Given the description of an element on the screen output the (x, y) to click on. 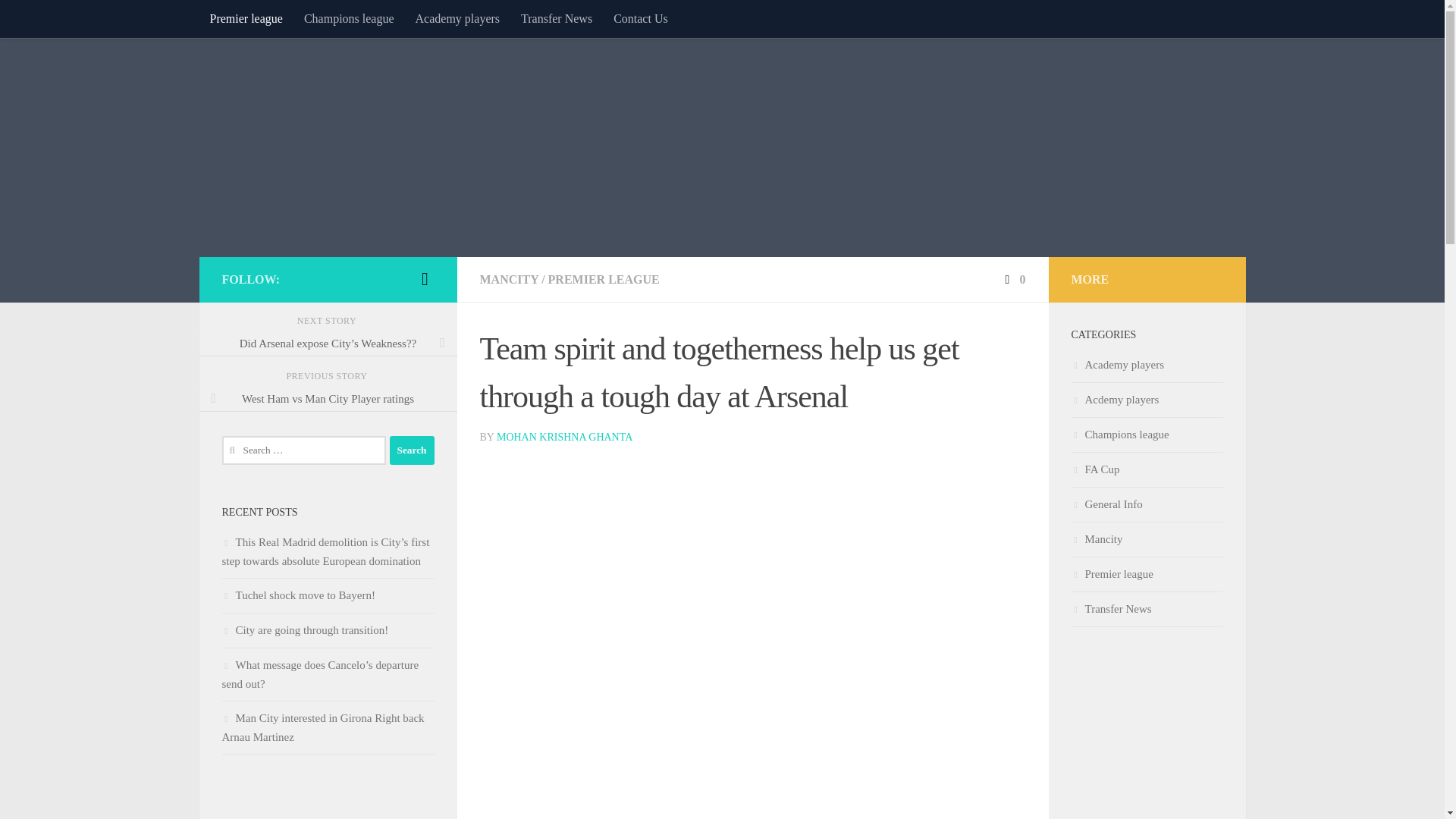
West Ham vs Man City Player ratings (327, 398)
Academy players (457, 18)
Skip to content (59, 20)
Follow us on Twitter (423, 279)
Premier league (245, 18)
Posts by Mohan Krishna Ghanta (563, 437)
MOHAN KRISHNA GHANTA (563, 437)
Champions league (349, 18)
Search (411, 450)
Search (411, 450)
Transfer News (556, 18)
PREMIER LEAGUE (603, 278)
Contact Us (640, 18)
0 (1013, 278)
MANCITY (508, 278)
